Given the description of an element on the screen output the (x, y) to click on. 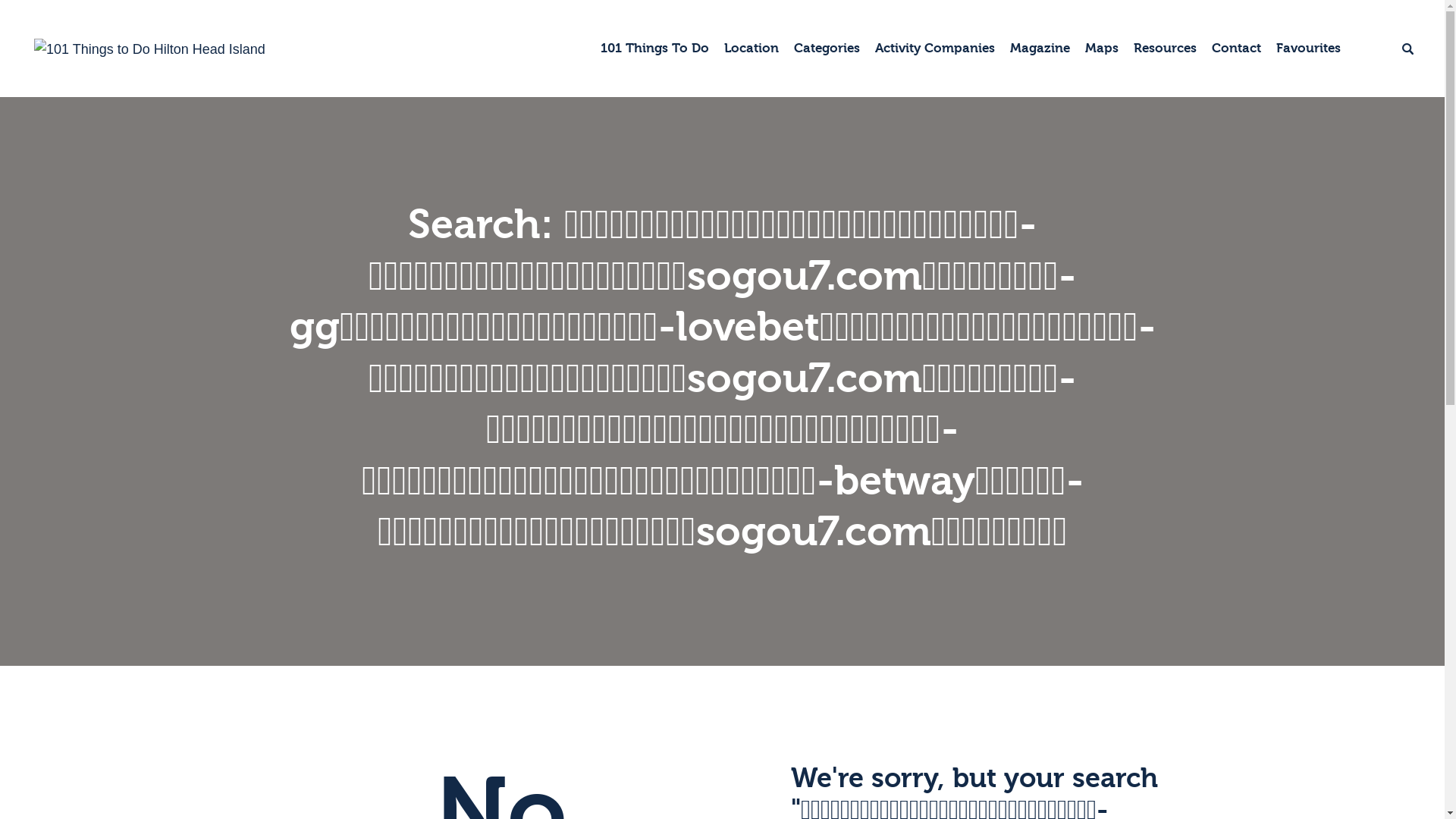
Resources Element type: text (1165, 48)
Categories Element type: text (826, 48)
Maps Element type: text (1101, 48)
Location Element type: text (751, 48)
Contact Element type: text (1236, 48)
Favourites Element type: text (1308, 48)
Activity Companies Element type: text (934, 48)
Magazine Element type: text (1039, 48)
101 Things To Do Element type: text (654, 48)
